Given the description of an element on the screen output the (x, y) to click on. 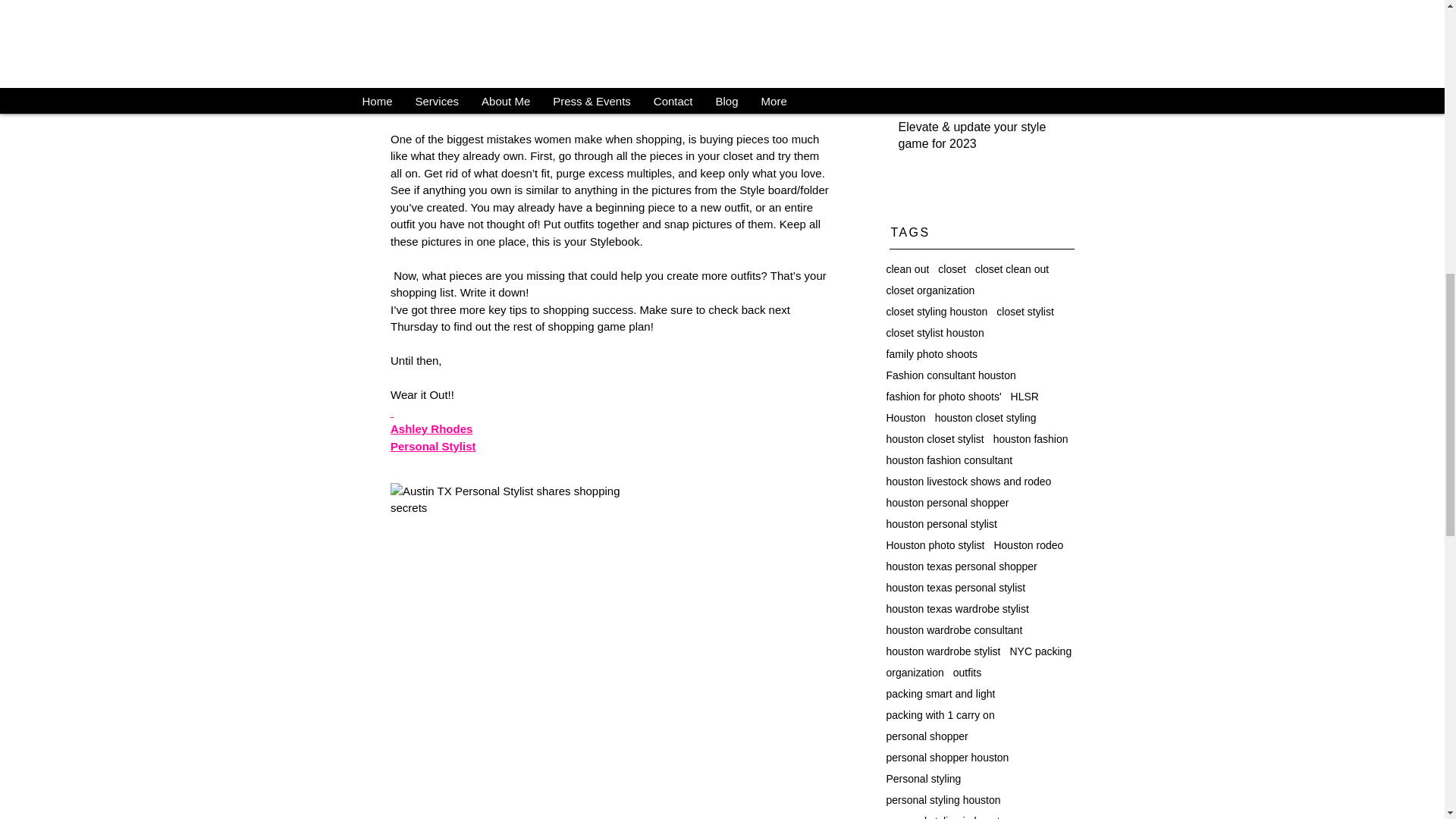
Personal Stylist (433, 445)
Ashley Rhodes (430, 428)
